Given the description of an element on the screen output the (x, y) to click on. 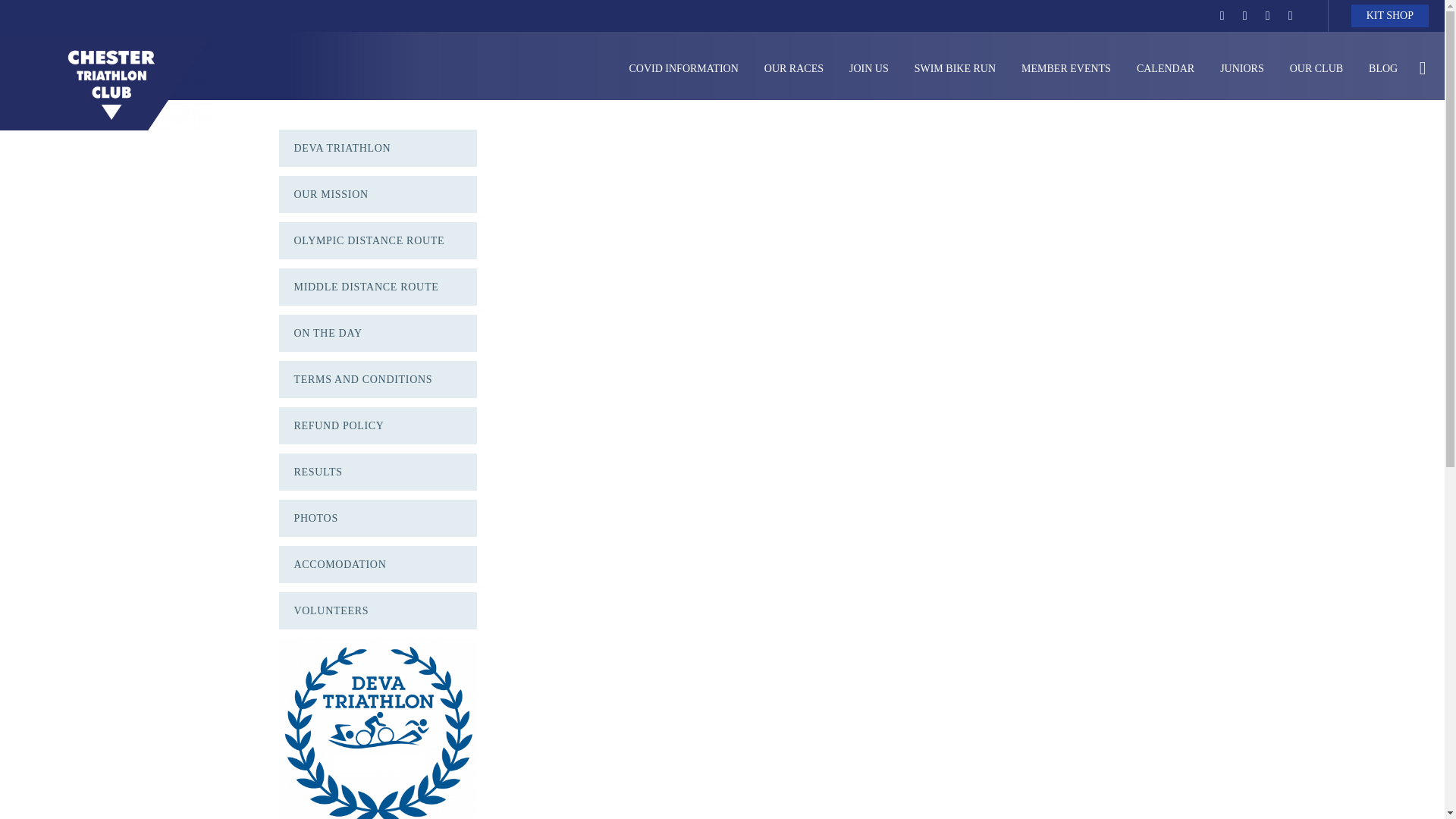
Instagram (1267, 15)
Flickr (1290, 15)
KIT SHOP (1389, 15)
Facebook (1222, 15)
JOIN US (868, 67)
OUR RACES (793, 67)
SWIM BIKE RUN (954, 67)
Twitter (1244, 15)
COVID INFORMATION (683, 67)
